Given the description of an element on the screen output the (x, y) to click on. 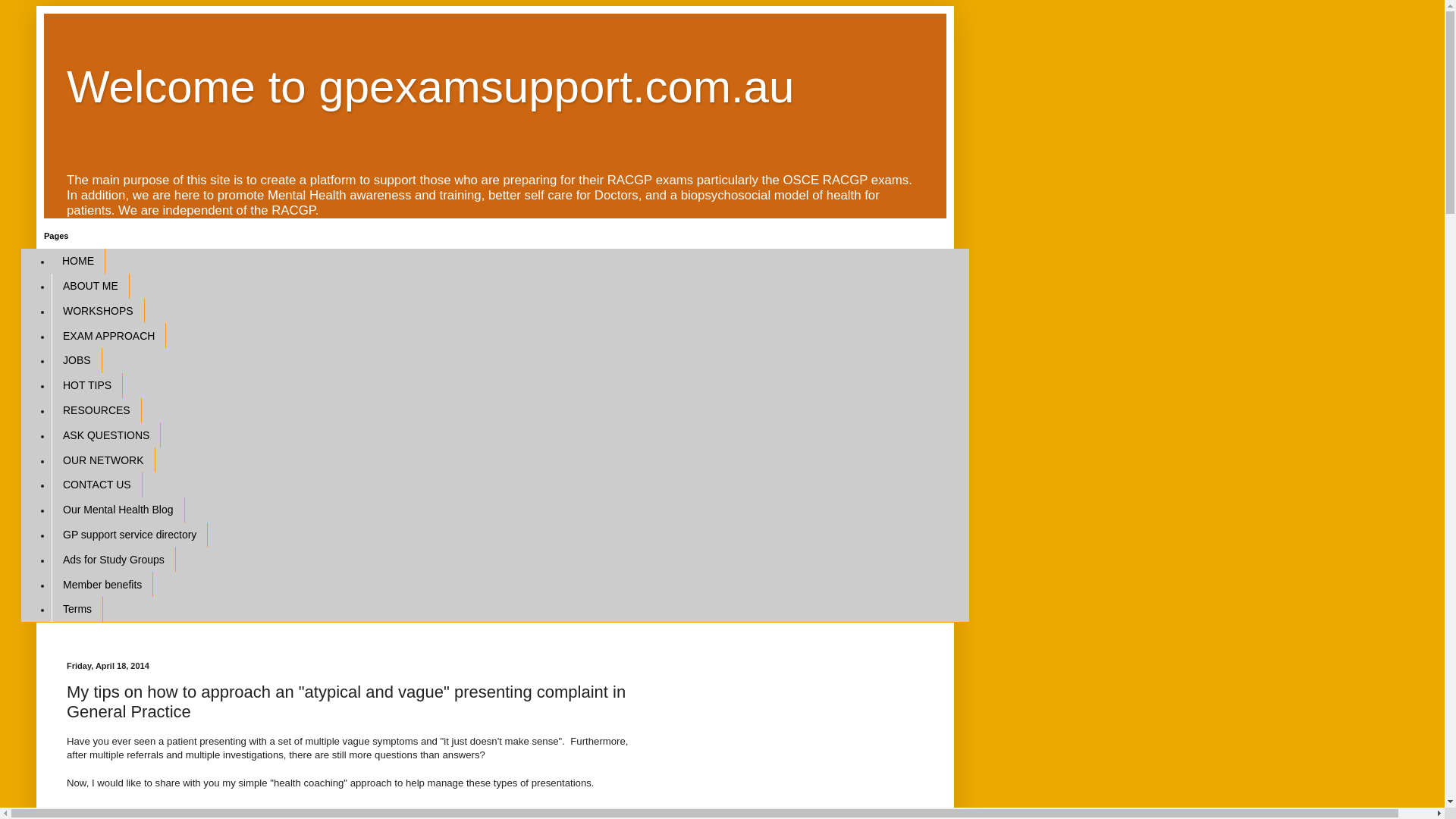
ASK QUESTIONS (105, 434)
Member benefits (101, 584)
RESOURCES (95, 410)
ABOUT ME (89, 285)
JOBS (75, 360)
HOME (77, 260)
OUR NETWORK (102, 459)
Terms (76, 609)
GP support service directory (129, 534)
WORKSHOPS (97, 310)
Ads for Study Groups (113, 559)
CONTACT US (96, 484)
Our Mental Health Blog (117, 509)
EXAM APPROACH (107, 335)
Welcome to gpexamsupport.com.au (429, 86)
